Given the description of an element on the screen output the (x, y) to click on. 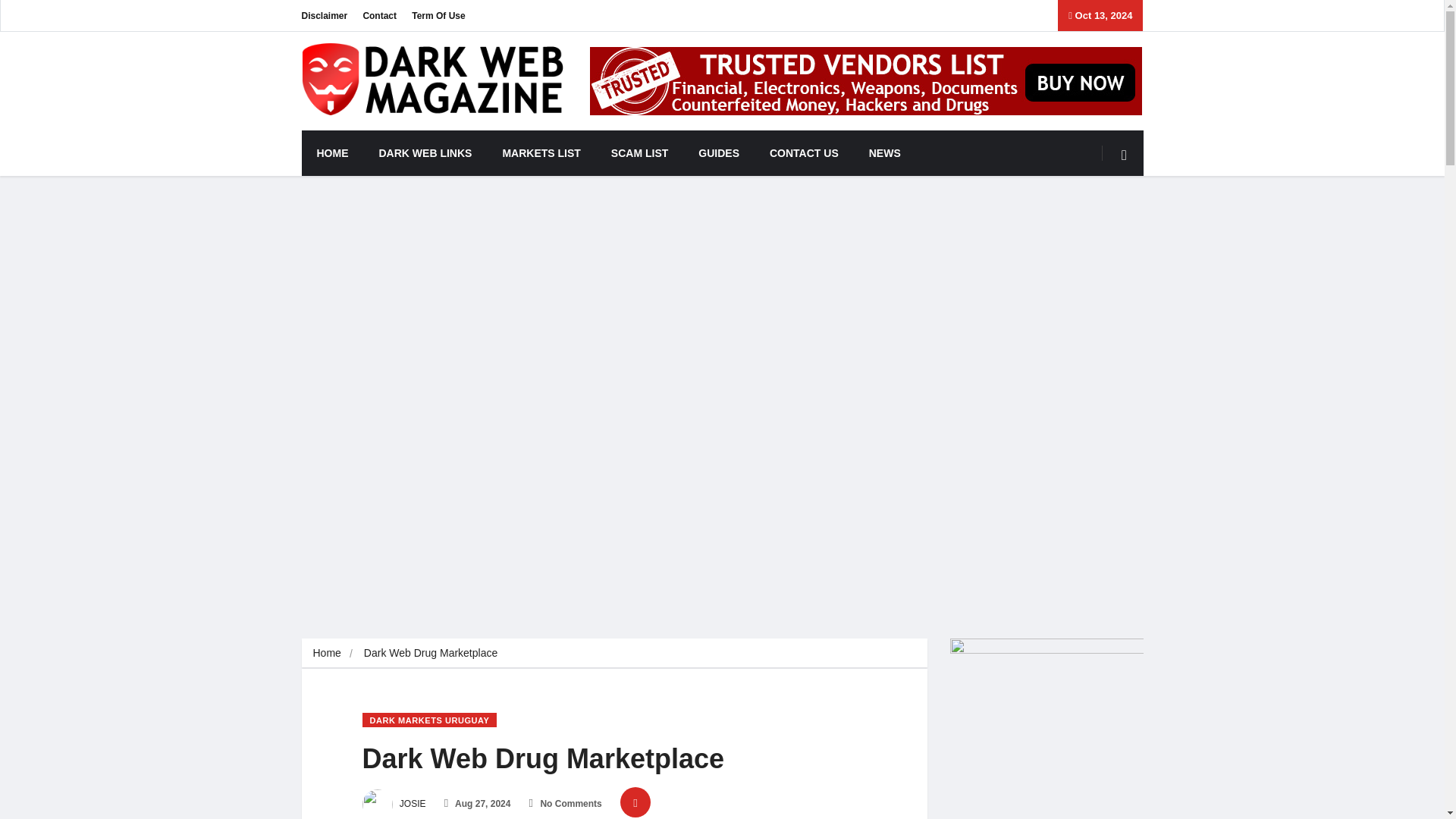
Disclaimer (324, 15)
SCAM LIST (638, 153)
DARK WEB LINKS (425, 153)
CONTACT US (803, 153)
Contact (379, 15)
MARKETS LIST (540, 153)
JOSIE (394, 803)
Term Of Use (438, 15)
NEWS (884, 153)
DARK MARKETS URUGUAY (429, 719)
